Given the description of an element on the screen output the (x, y) to click on. 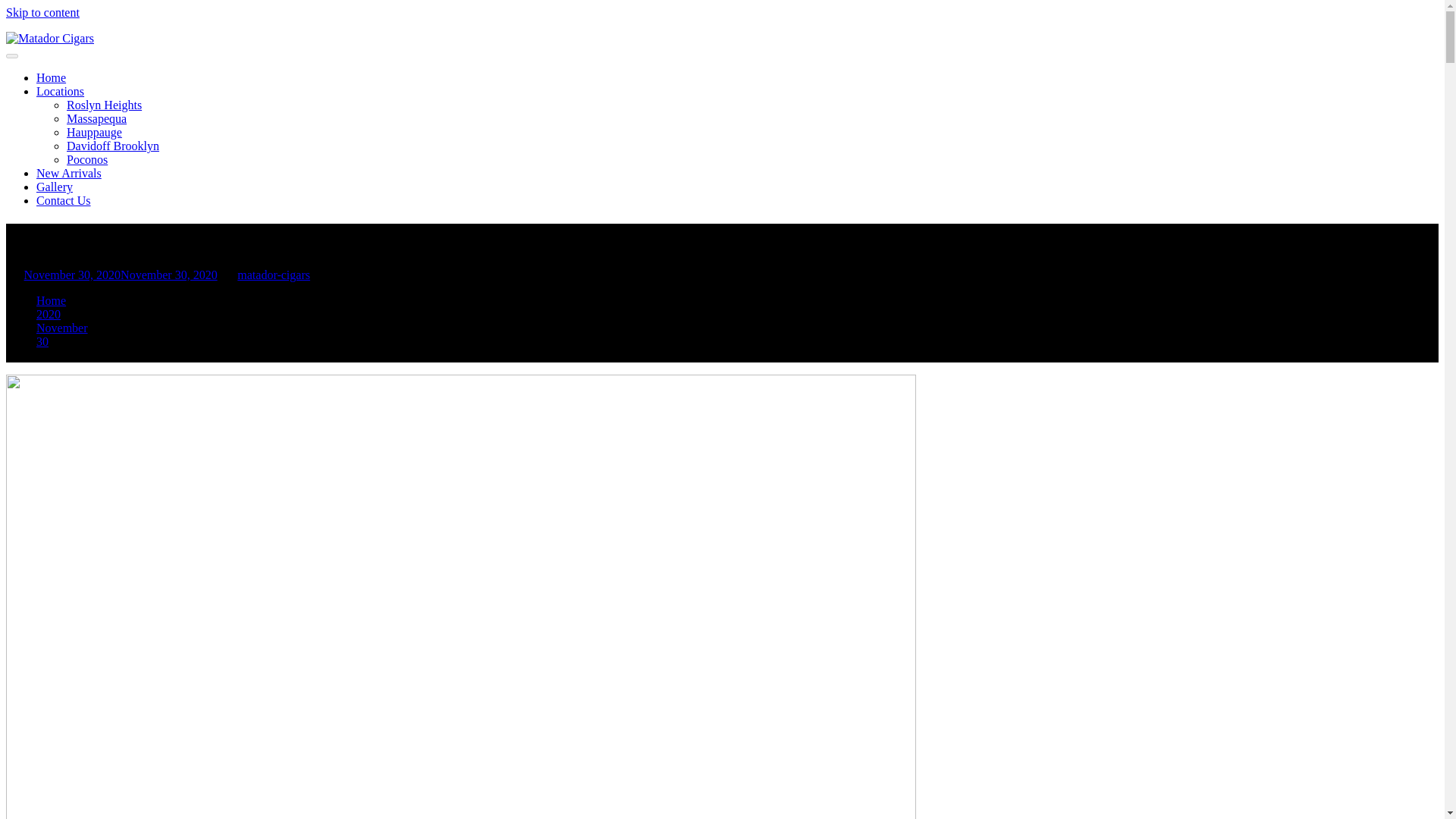
November 30, 2020November 30, 2020 (120, 274)
matador-cigars (273, 274)
New Arrivals (68, 173)
30 (42, 341)
Hauppauge (94, 132)
Roslyn Heights (103, 104)
Contact Us (63, 200)
Massapequa (96, 118)
Home (50, 77)
Locations (60, 91)
November (61, 327)
Gallery (54, 186)
Skip to content (42, 11)
Matador Cigars (43, 63)
Poconos (86, 159)
